Given the description of an element on the screen output the (x, y) to click on. 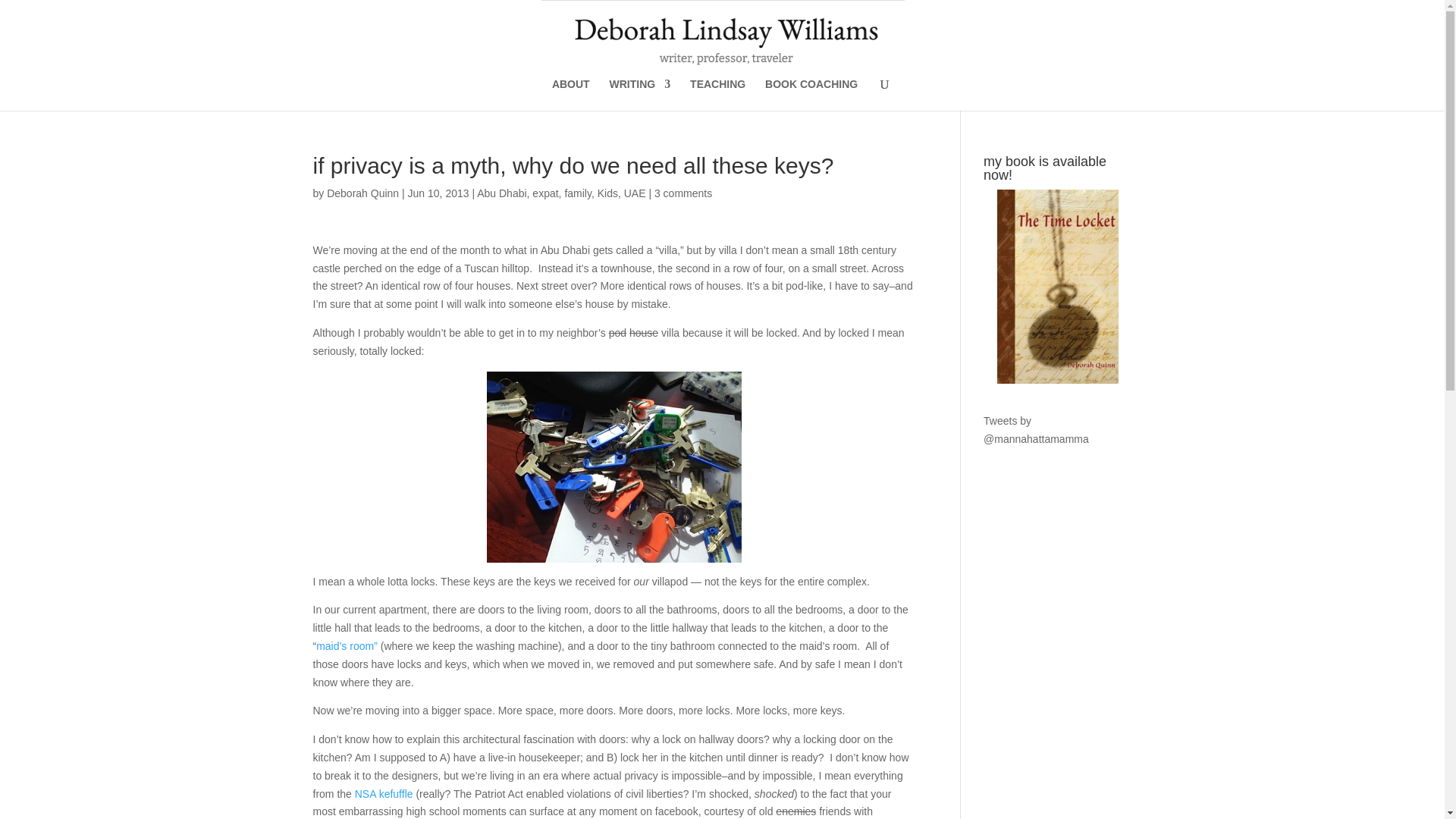
UAE (635, 193)
family (577, 193)
Kids (606, 193)
BOOK COACHING (811, 94)
Deborah Quinn (362, 193)
ABOUT (570, 94)
WRITING (640, 94)
NSA kefuffle (384, 793)
Abu Dhabi (501, 193)
3 comments (682, 193)
TEACHING (717, 94)
Posts by Deborah Quinn (362, 193)
expat (544, 193)
